Given the description of an element on the screen output the (x, y) to click on. 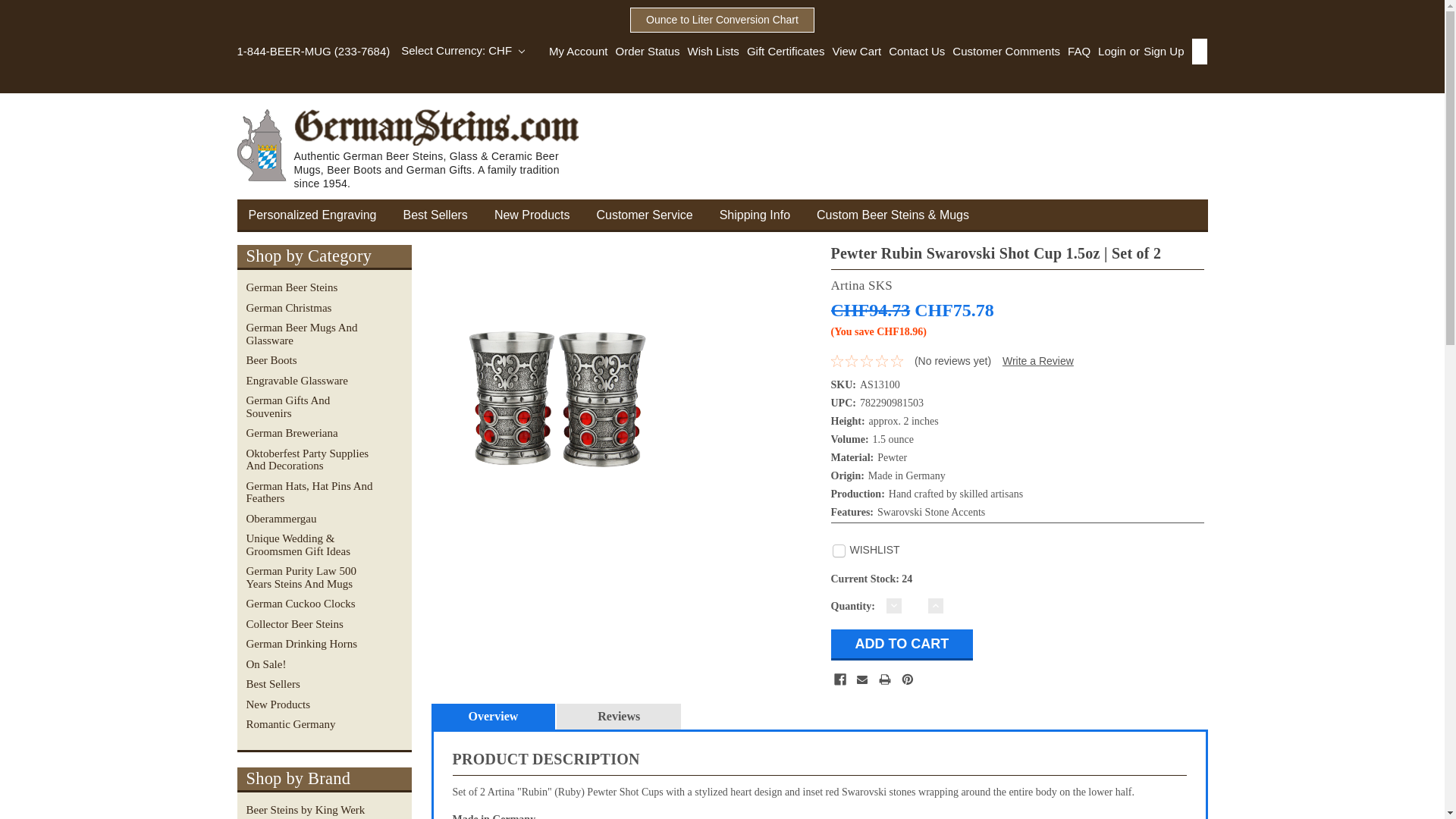
1 (914, 605)
Sign Up (1161, 51)
Customer Comments (1001, 51)
Select Currency: CHF (462, 50)
Gift Certificates (782, 51)
My Account (578, 51)
Contact Us (912, 51)
